Given the description of an element on the screen output the (x, y) to click on. 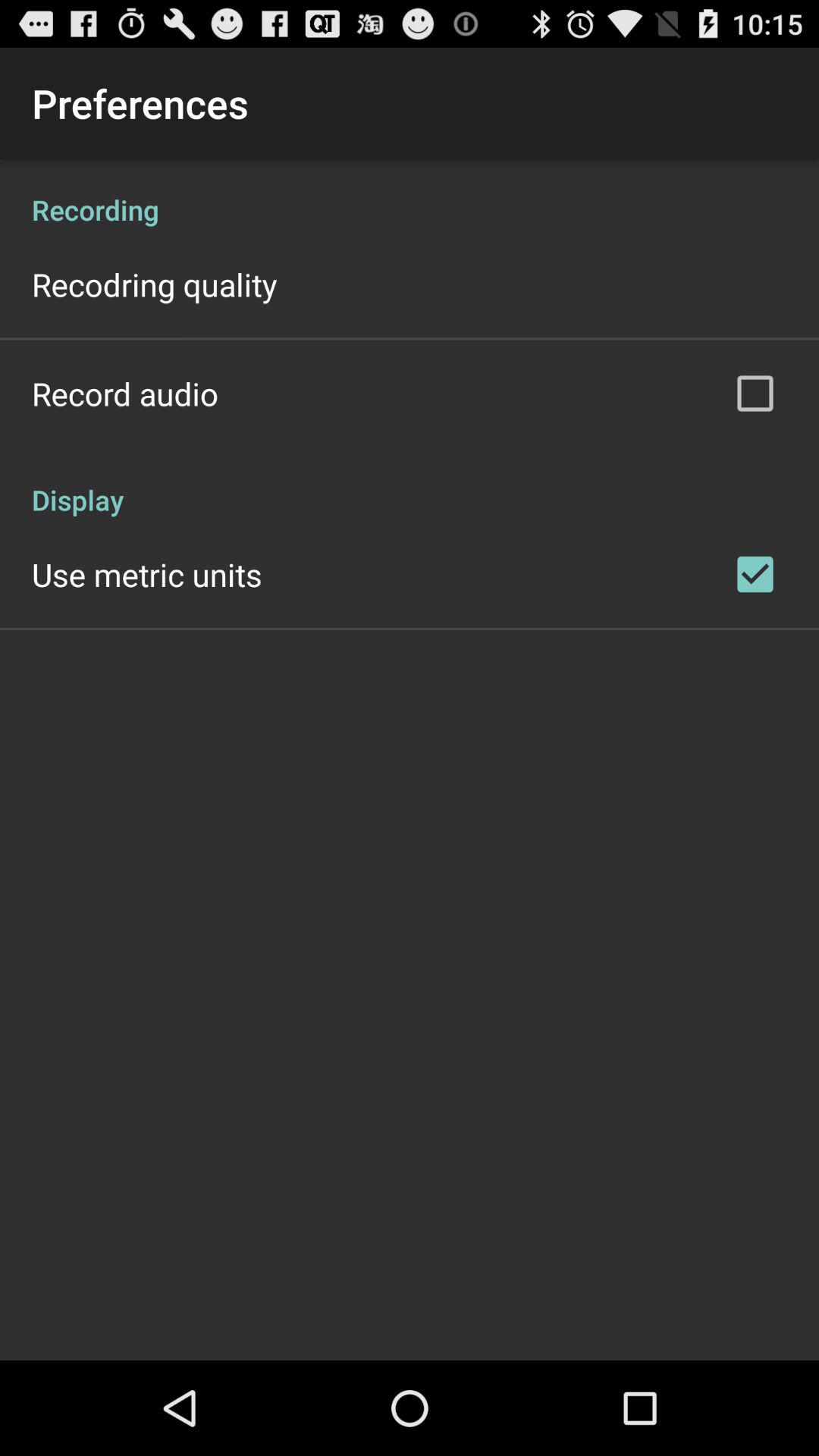
open item below preferences icon (409, 193)
